Given the description of an element on the screen output the (x, y) to click on. 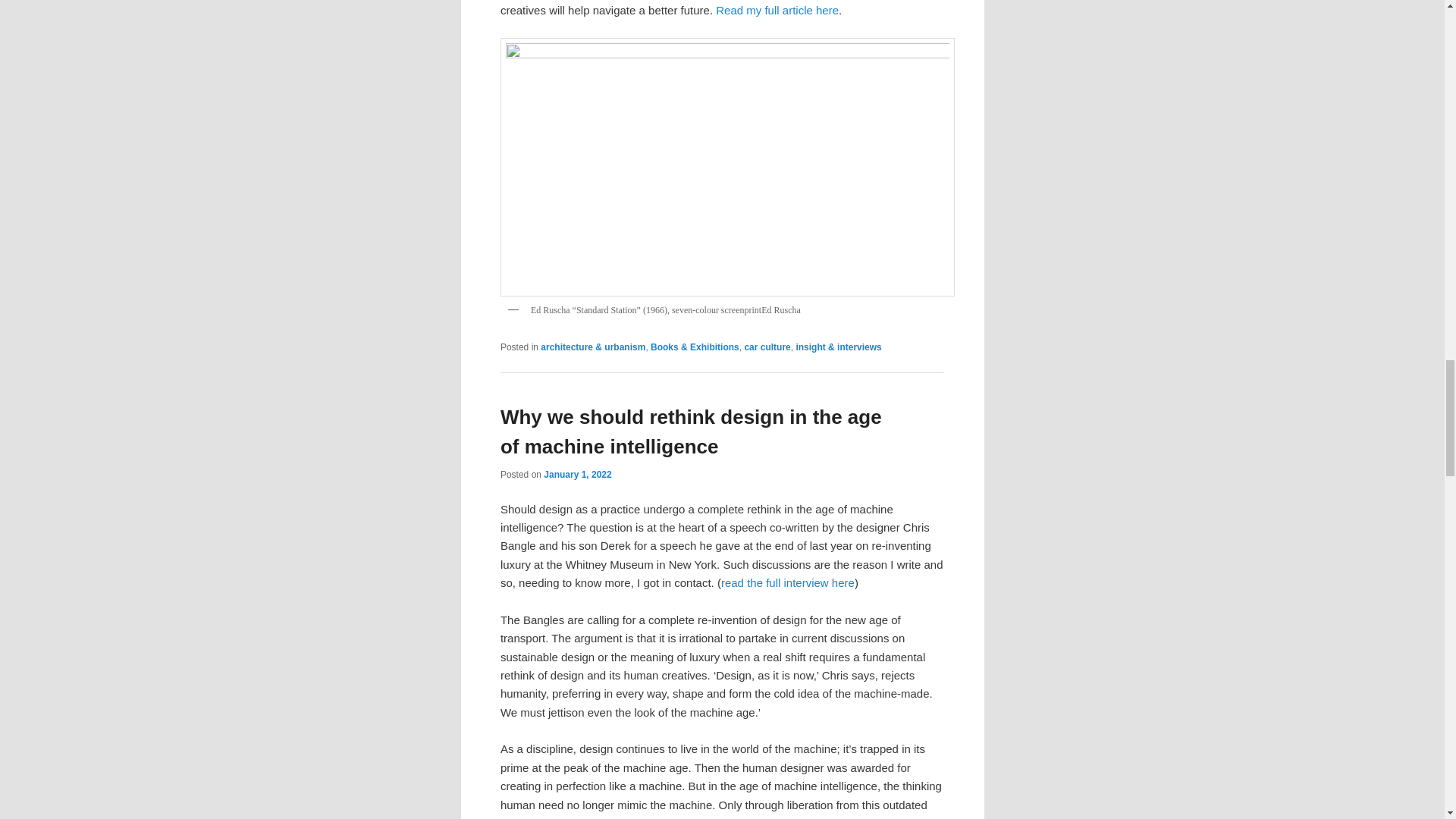
car culture (767, 347)
January 1, 2022 (577, 474)
Read my full article here (777, 10)
read the full interview here (787, 582)
